Given the description of an element on the screen output the (x, y) to click on. 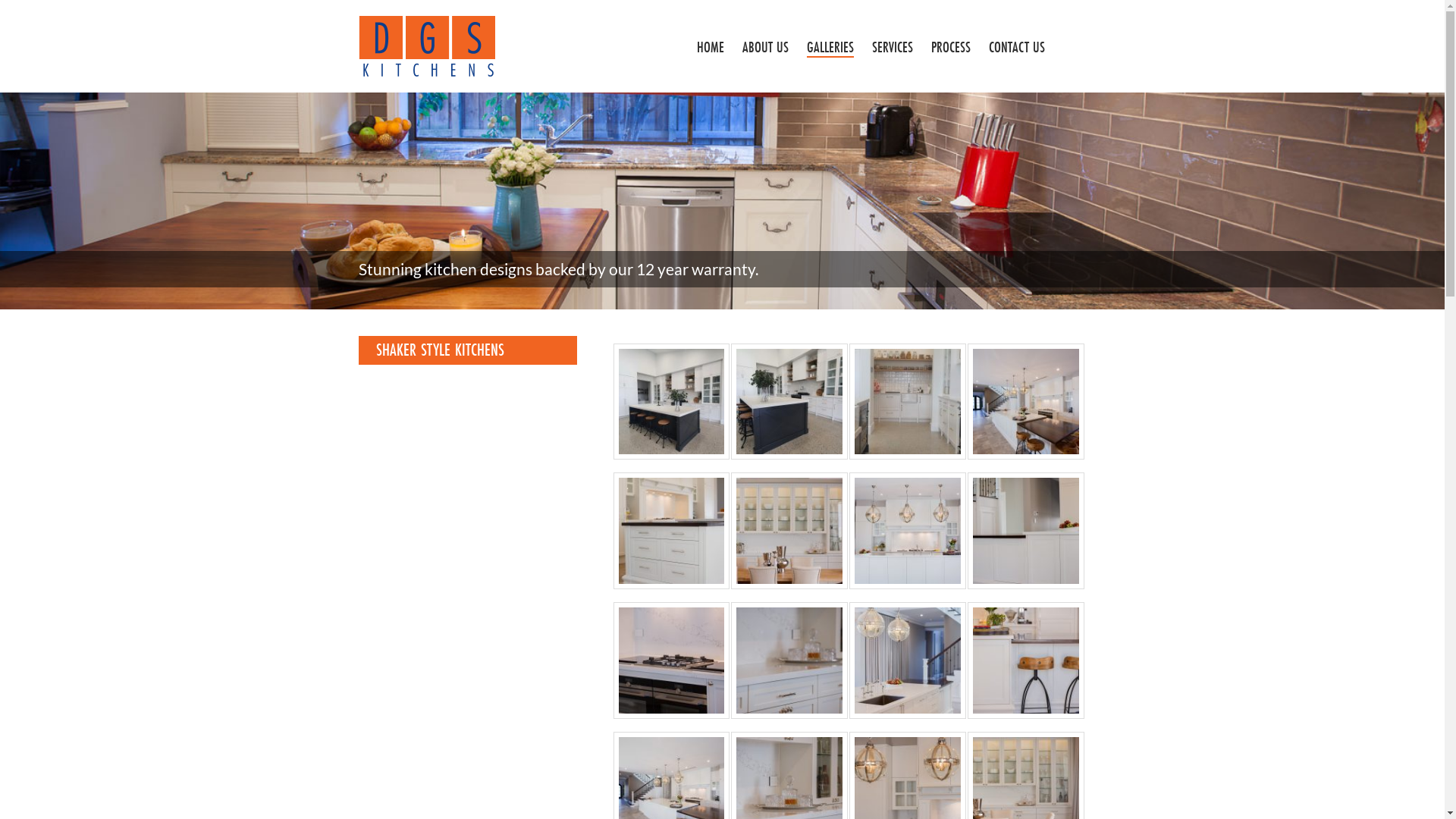
PROCESS Element type: text (950, 46)
ABOUT US Element type: text (764, 46)
CONTACT US Element type: text (1016, 46)
GALLERIES Element type: text (829, 47)
SERVICES Element type: text (892, 46)
HOME Element type: text (709, 46)
